Given the description of an element on the screen output the (x, y) to click on. 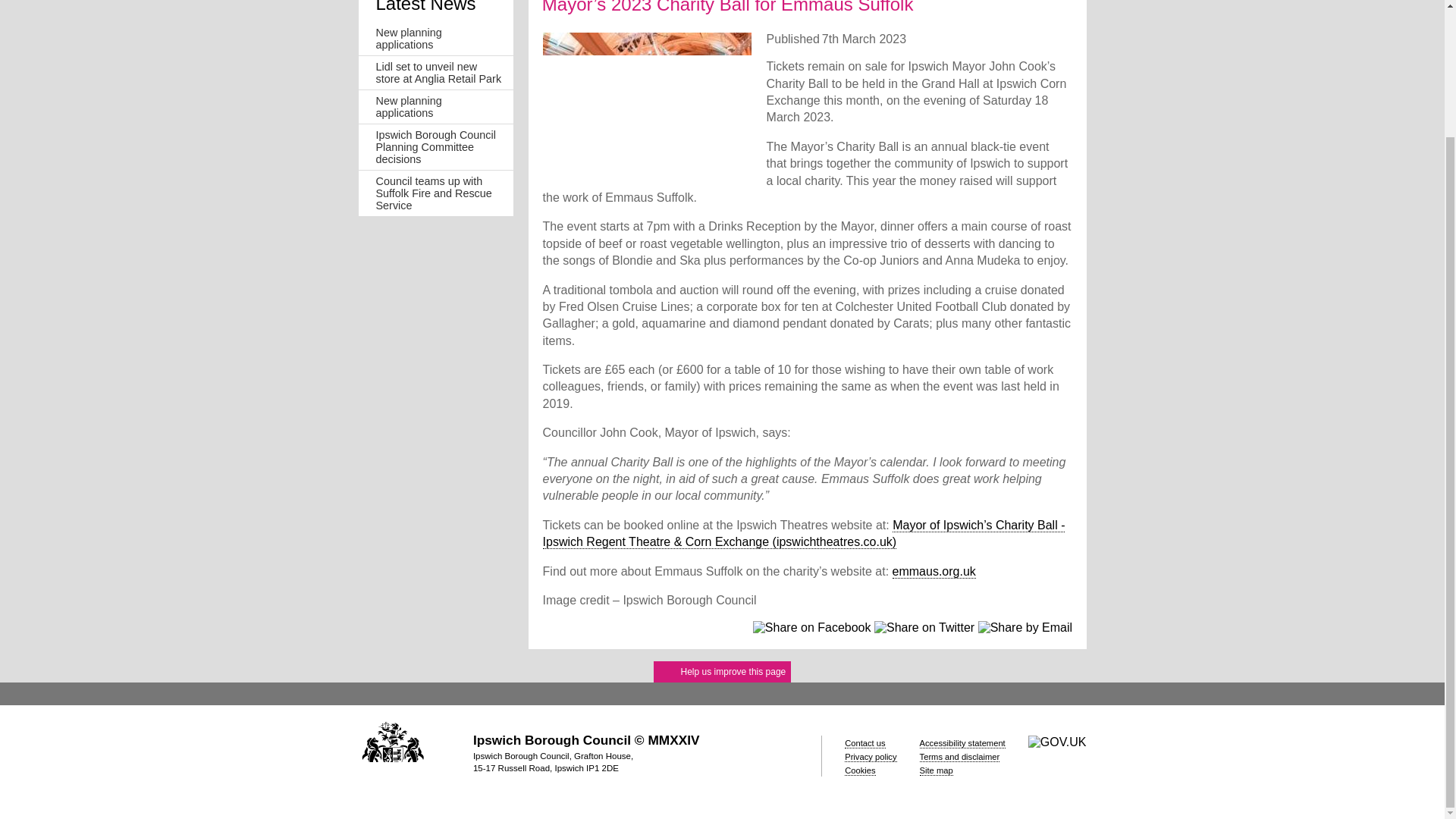
New planning applications (408, 106)
Lidl set to unveil new store at Anglia Retail Park (438, 72)
New planning applications (408, 38)
emmaus.org.uk (933, 571)
Ipswich Borough Council Planning Committee decisions (435, 146)
